Given the description of an element on the screen output the (x, y) to click on. 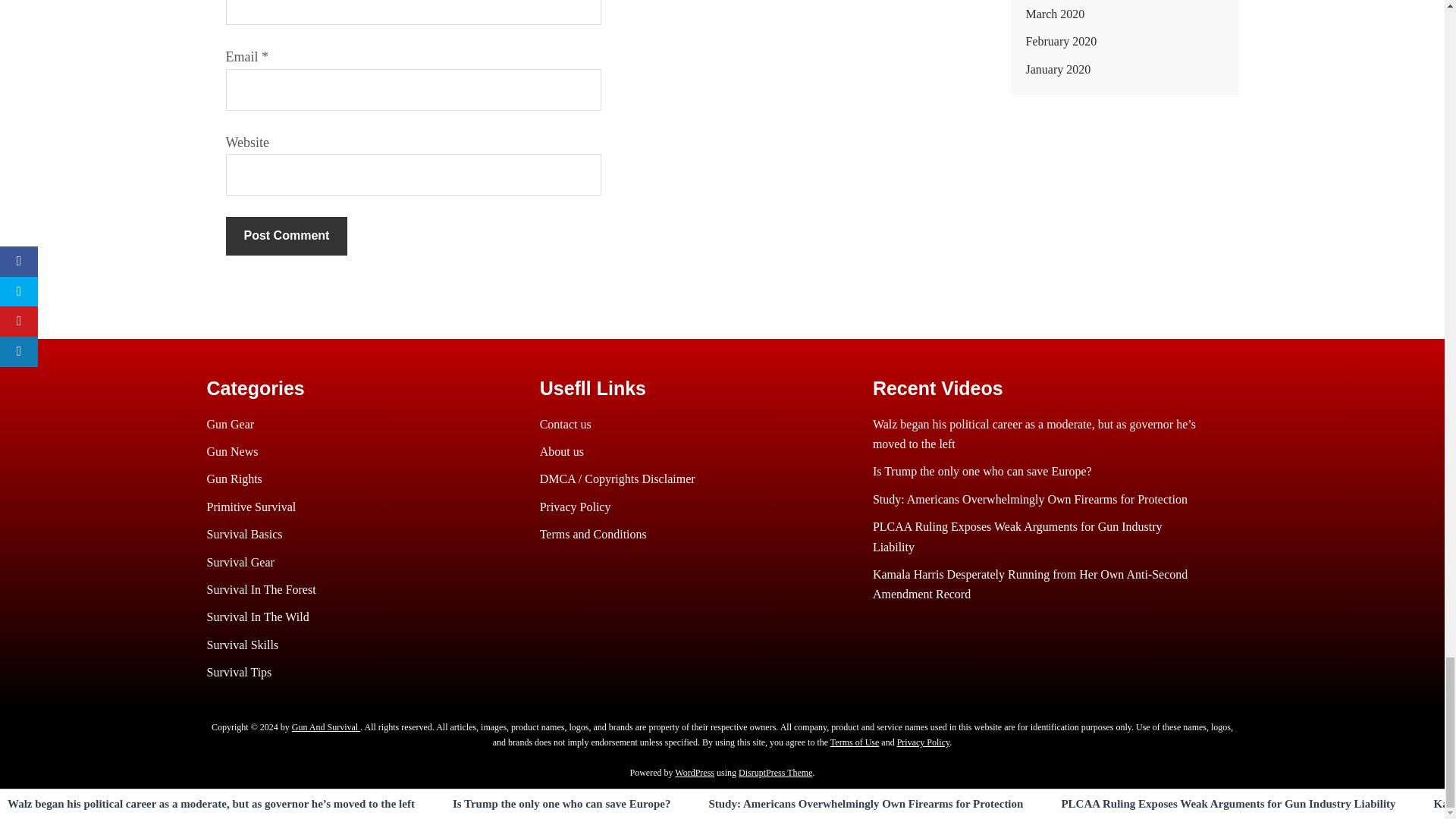
Post Comment (286, 235)
